Given the description of an element on the screen output the (x, y) to click on. 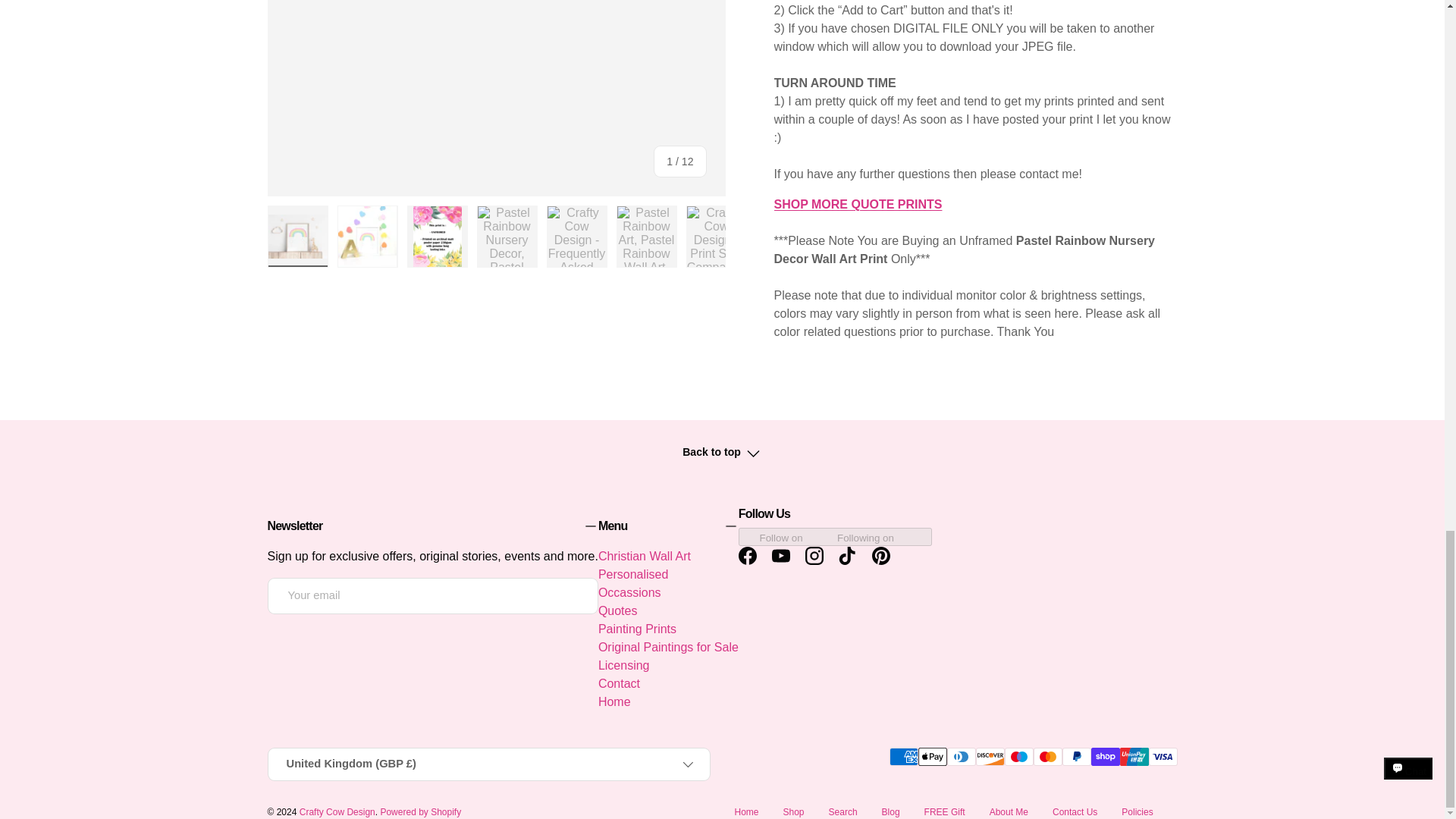
Crafty Cow Design - Quote  Prints (857, 204)
Crafty Cow Design on YouTube (780, 555)
Crafty Cow Design on Instagram (814, 555)
Crafty Cow Design on Facebook (747, 555)
Crafty Cow Design on TikTok (847, 555)
Crafty Cow Design on Pinterest (881, 555)
